Given the description of an element on the screen output the (x, y) to click on. 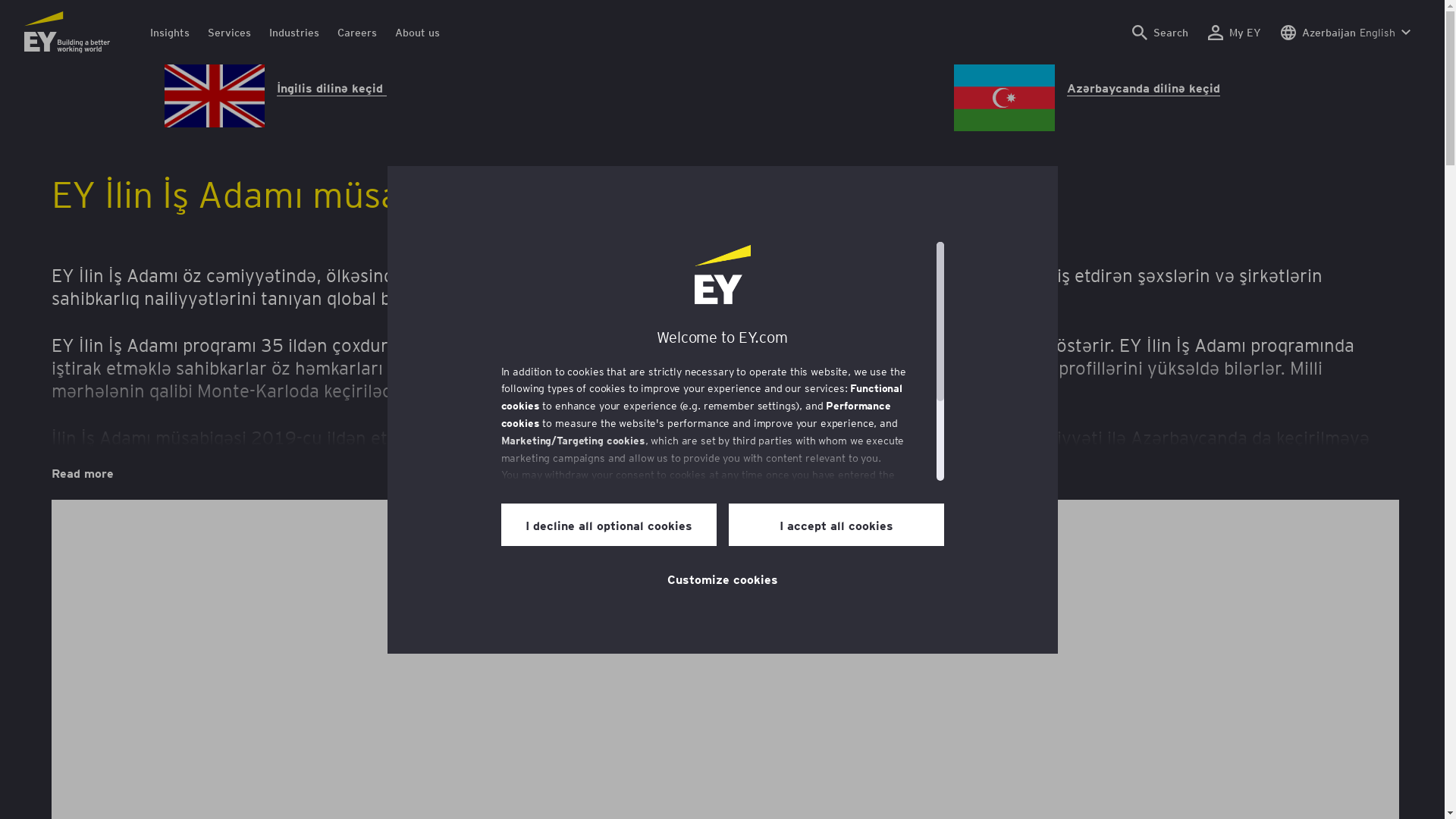
Industries Element type: text (294, 32)
Switch to English Element type: hover (214, 122)
My EY Element type: text (1234, 32)
EY Homepage Element type: hover (66, 32)
Customize cookies Element type: text (722, 578)
Careers Element type: text (356, 32)
About us Element type: text (417, 32)
Switch to Azerbaijani language Element type: hover (1003, 126)
I decline all optional cookies Element type: text (607, 524)
Services Element type: text (228, 32)
Insights Element type: text (169, 32)
Close Modal Dialog Element type: text (1309, 529)
I accept all cookies Element type: text (835, 524)
Read more Element type: text (82, 472)
